Given the description of an element on the screen output the (x, y) to click on. 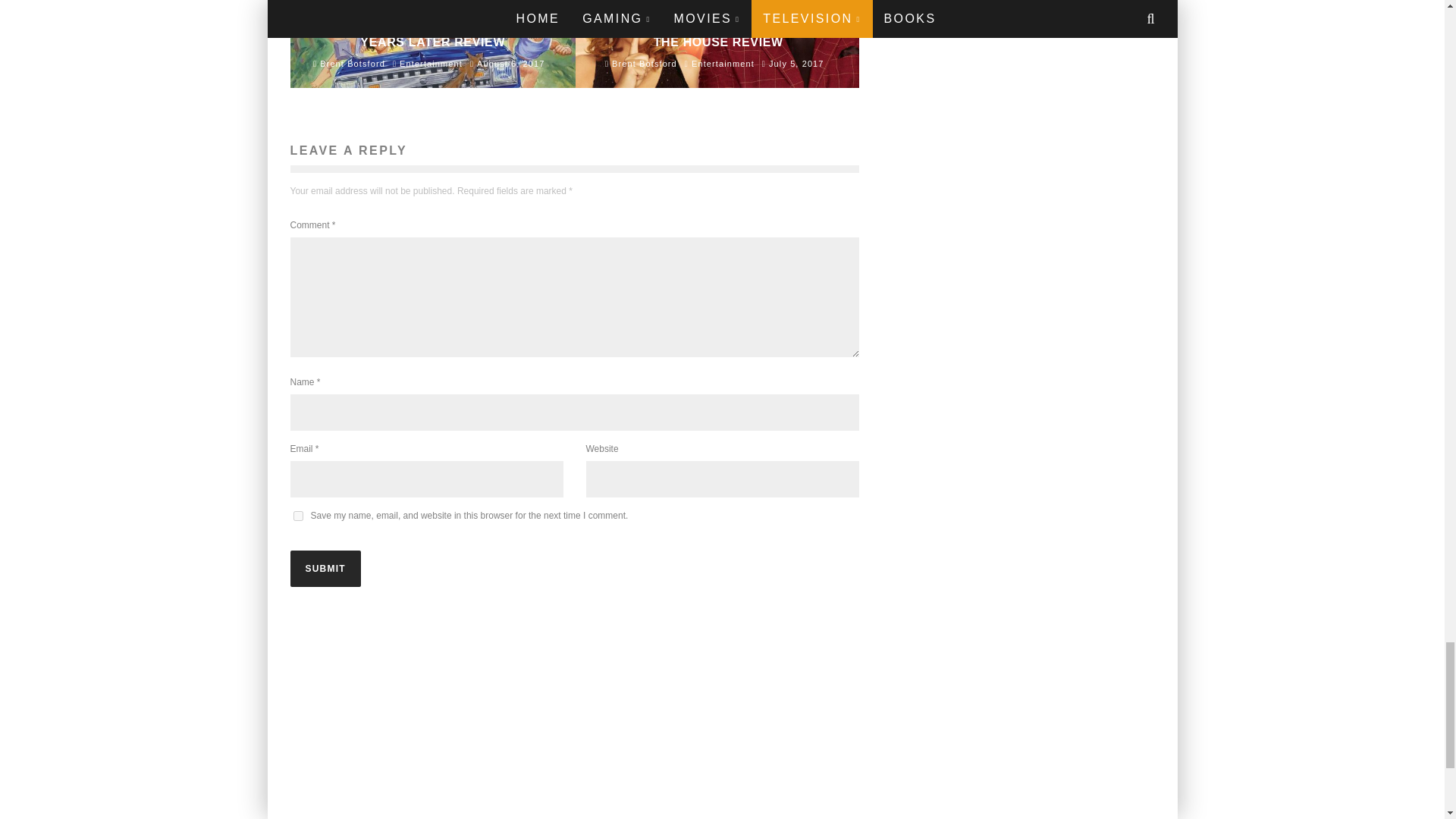
yes (297, 515)
Submit (324, 568)
